Given the description of an element on the screen output the (x, y) to click on. 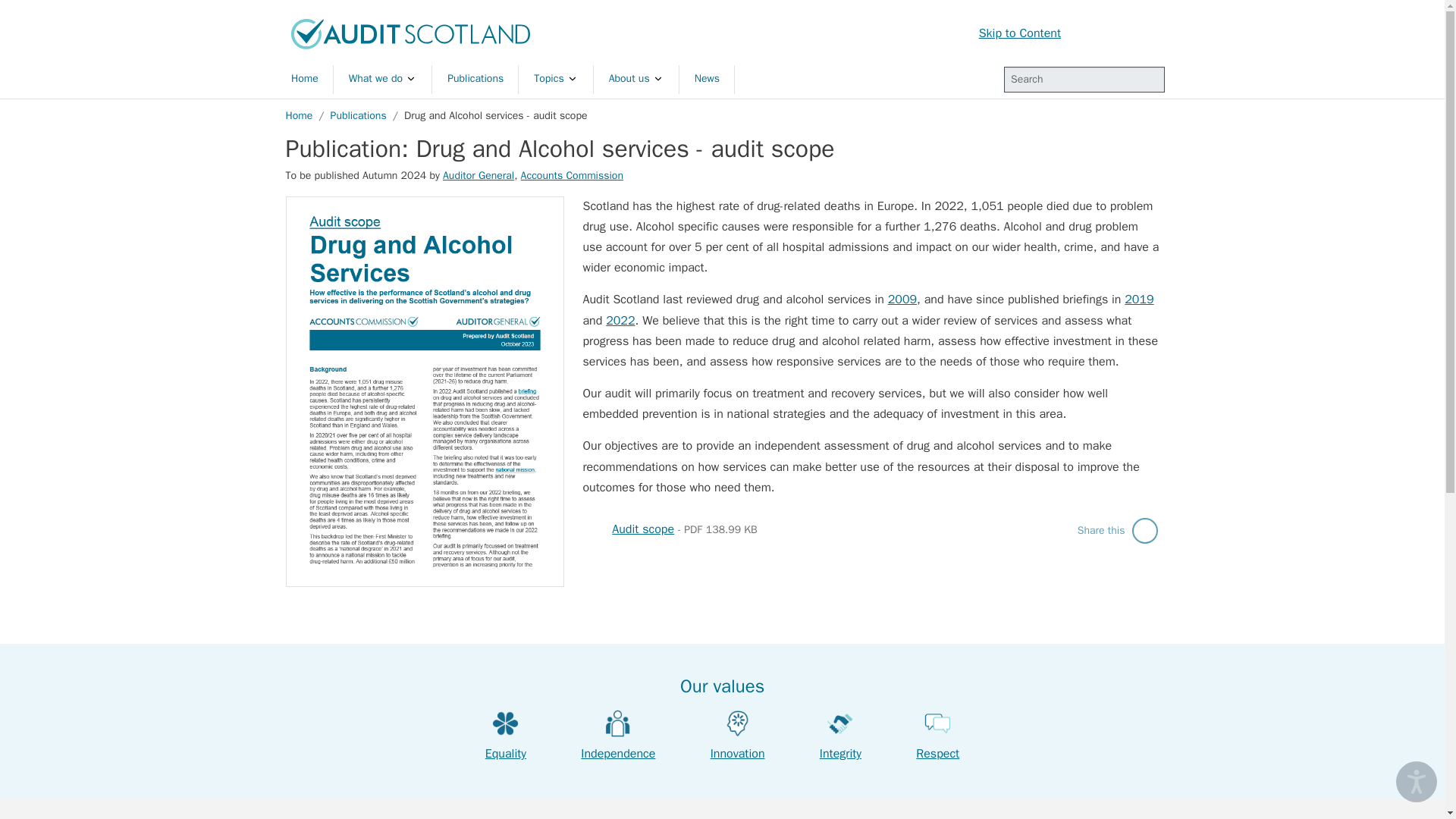
Audit Scotland on linkedin (1118, 32)
Audit Scotland on X (1098, 32)
Audit Scotland on facebook (1137, 32)
Contact us (1078, 32)
Skip to Content (1019, 33)
Skip navigation and go to main content (1019, 33)
Audit scope (642, 529)
Audit Scotland on instagram (1157, 32)
Listen with the ReachDeck Toolbar (1416, 781)
Home (410, 32)
